Given the description of an element on the screen output the (x, y) to click on. 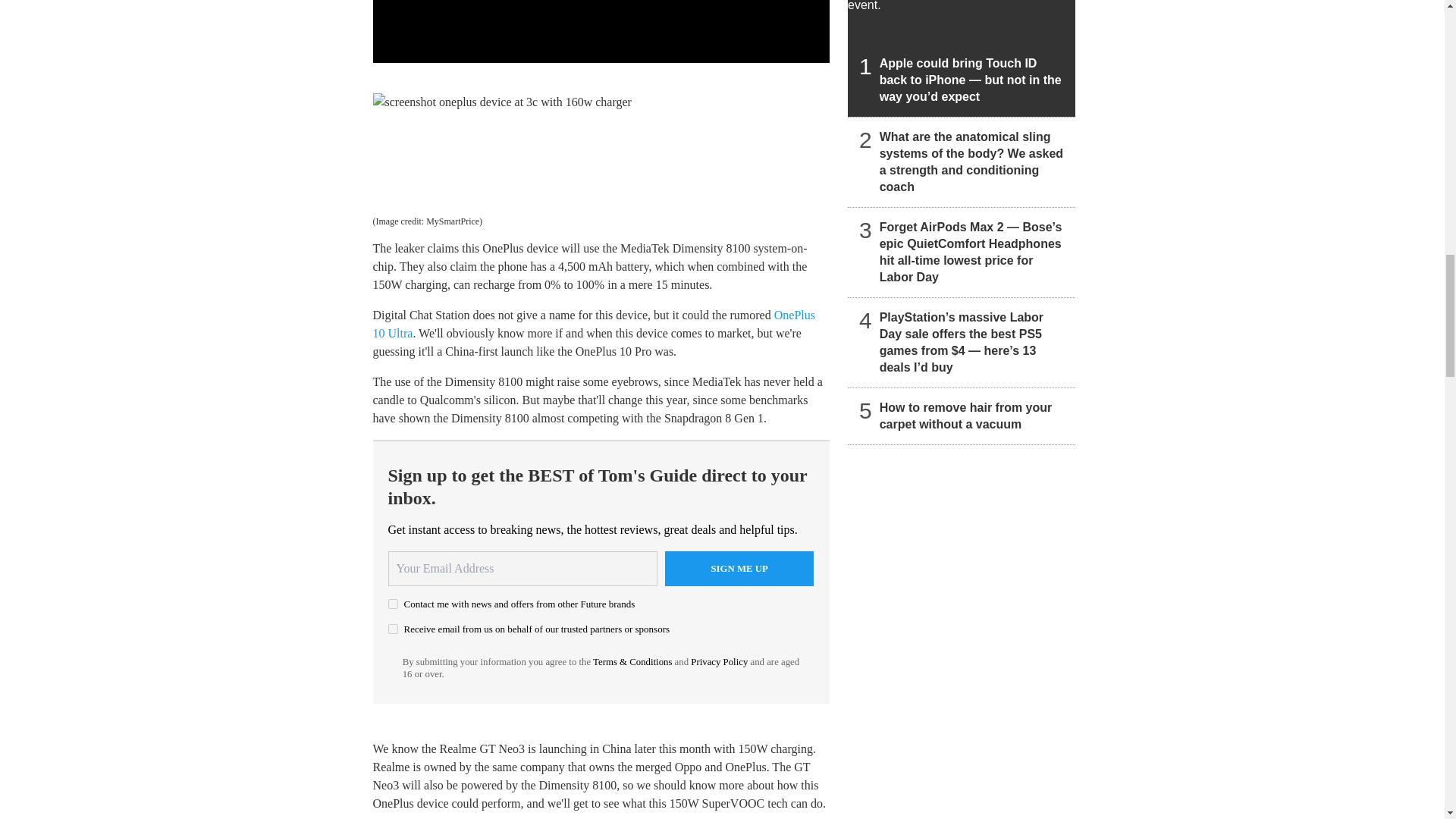
on (392, 603)
Sign me up (739, 568)
on (392, 628)
